Given the description of an element on the screen output the (x, y) to click on. 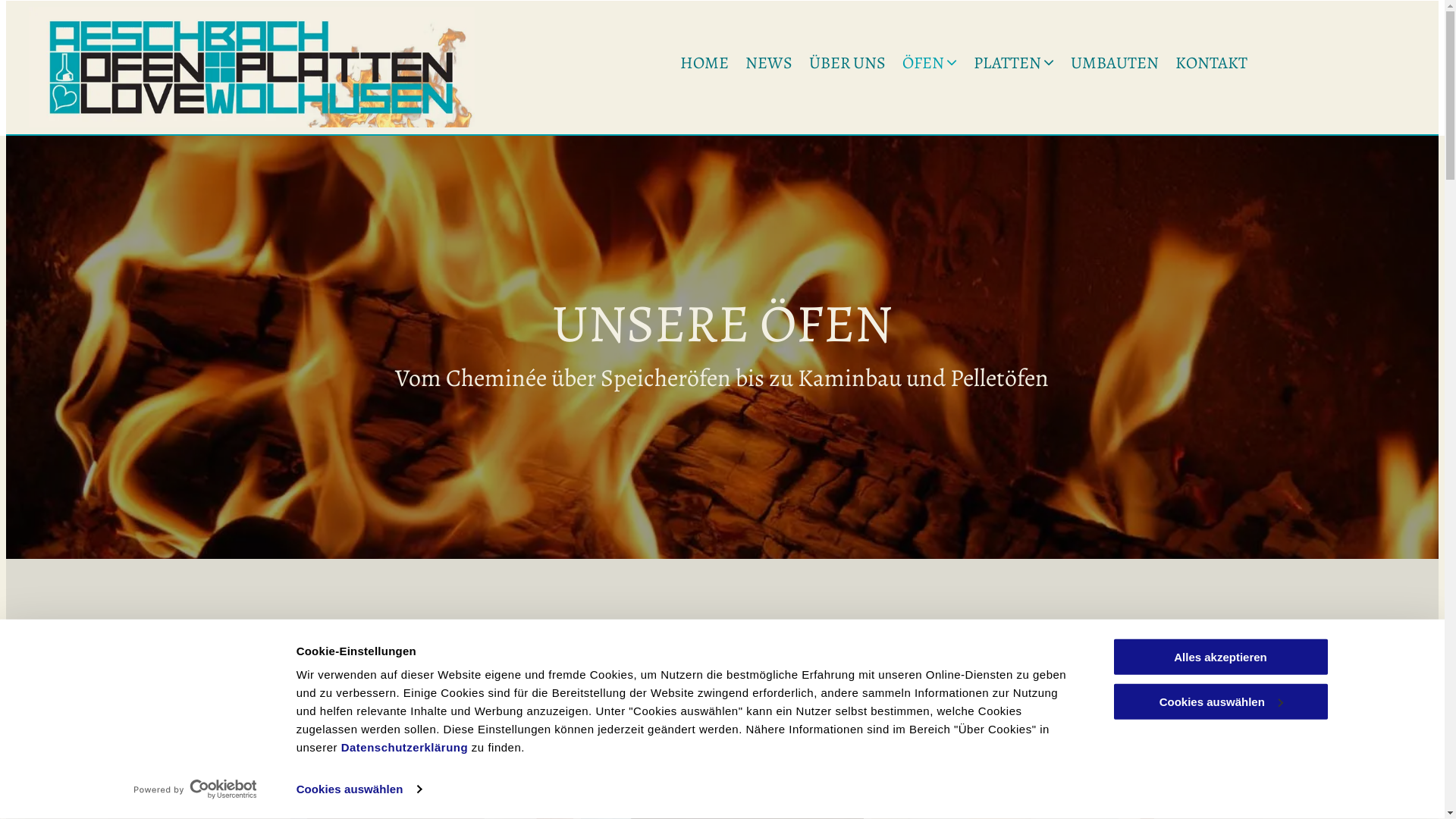
UMBAUTEN Element type: text (1114, 63)
PLATTEN Element type: text (1013, 63)
KONTAKT Element type: text (1211, 63)
NEWS Element type: text (768, 63)
HOME Element type: text (704, 63)
Alles akzeptieren Element type: text (1219, 656)
